Given the description of an element on the screen output the (x, y) to click on. 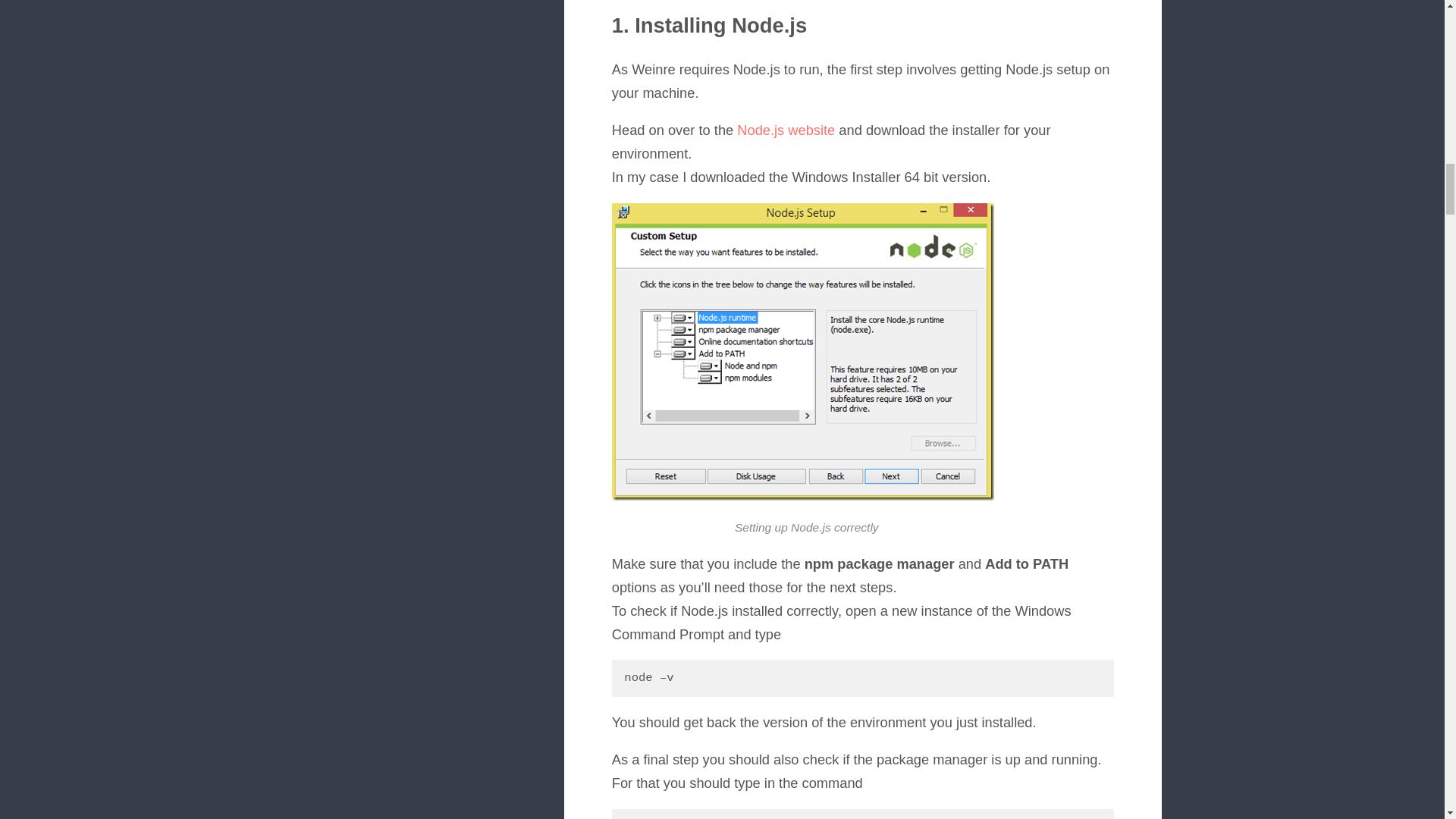
Setting up Node.js correctly (802, 351)
